Given the description of an element on the screen output the (x, y) to click on. 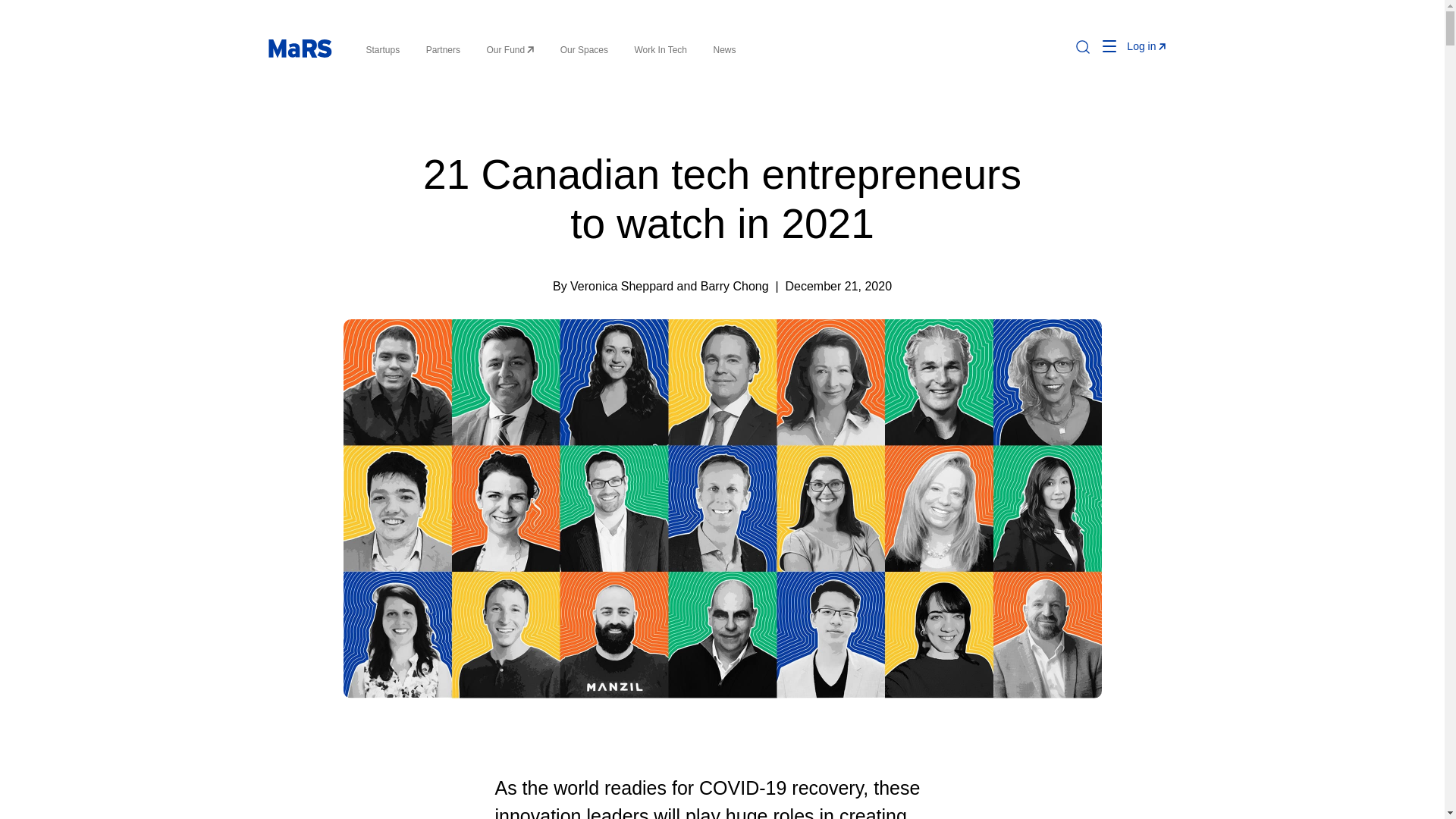
MaRS Discovery District (298, 48)
Our Fund (510, 49)
Partners (443, 49)
Log in (1145, 45)
Startups (381, 49)
Work In Tech (660, 49)
Our Spaces (584, 49)
News (724, 49)
